Given the description of an element on the screen output the (x, y) to click on. 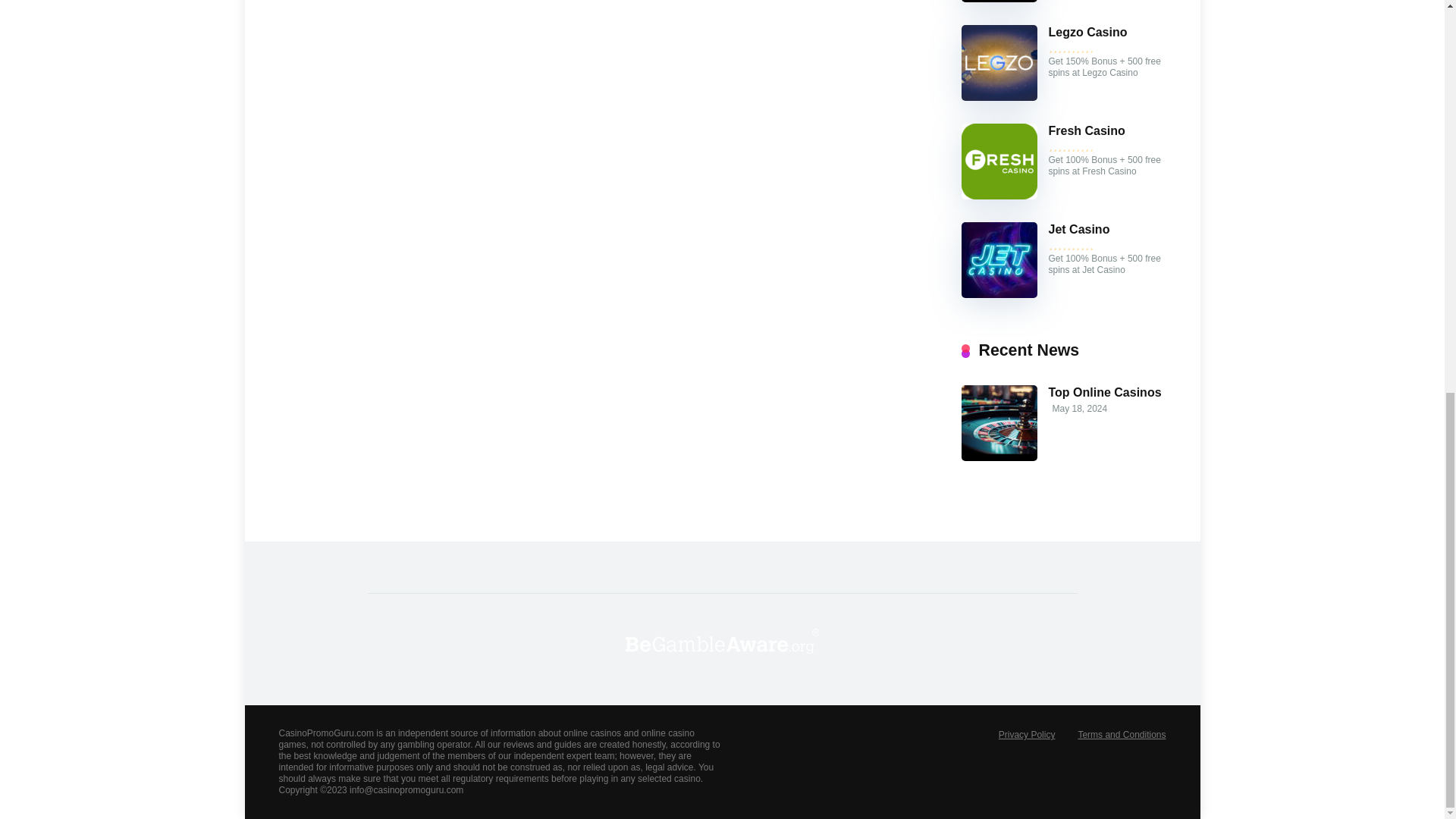
Privacy Policy (1026, 734)
Top Online Casinos (1104, 392)
Fresh Casino (1086, 131)
Legzo Casino (998, 96)
Fresh Casino (1086, 131)
Jet Casino (998, 293)
Top Online Casinos (998, 456)
Jet Casino (1078, 229)
Fresh Casino (998, 195)
Legzo Casino (1087, 32)
